Given the description of an element on the screen output the (x, y) to click on. 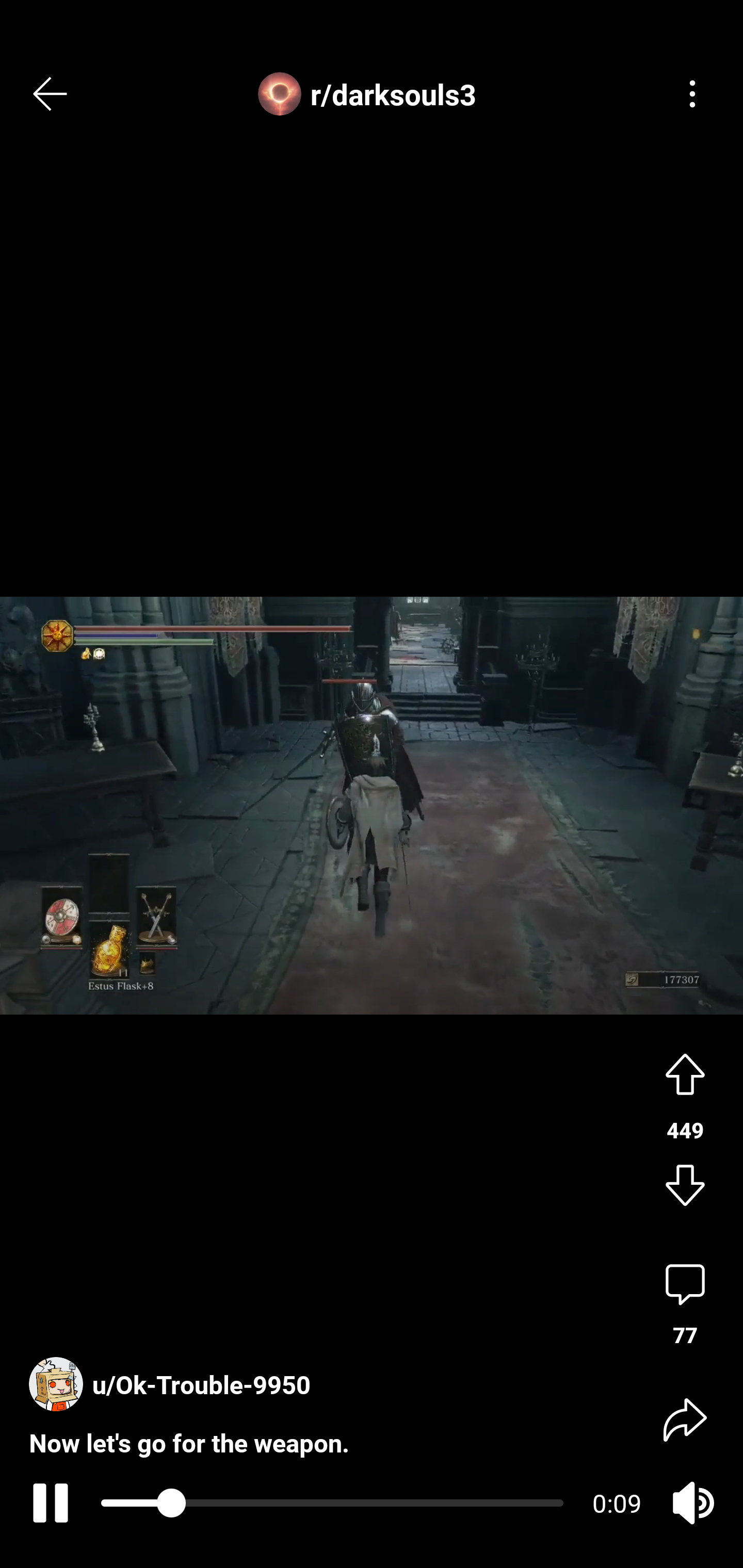
Back (50, 93)
r slash darksouls3 (371, 93)
More options (692, 93)
Upvote this post (684, 1071)
Downvote this post (684, 1187)
77 comments (684, 1305)
Ok-Trouble-9950, post creator (174, 1366)
Share this post (684, 1417)
Now let's go for the weapon. (188, 1425)
Pause (46, 1502)
Mute (692, 1502)
